Given the description of an element on the screen output the (x, y) to click on. 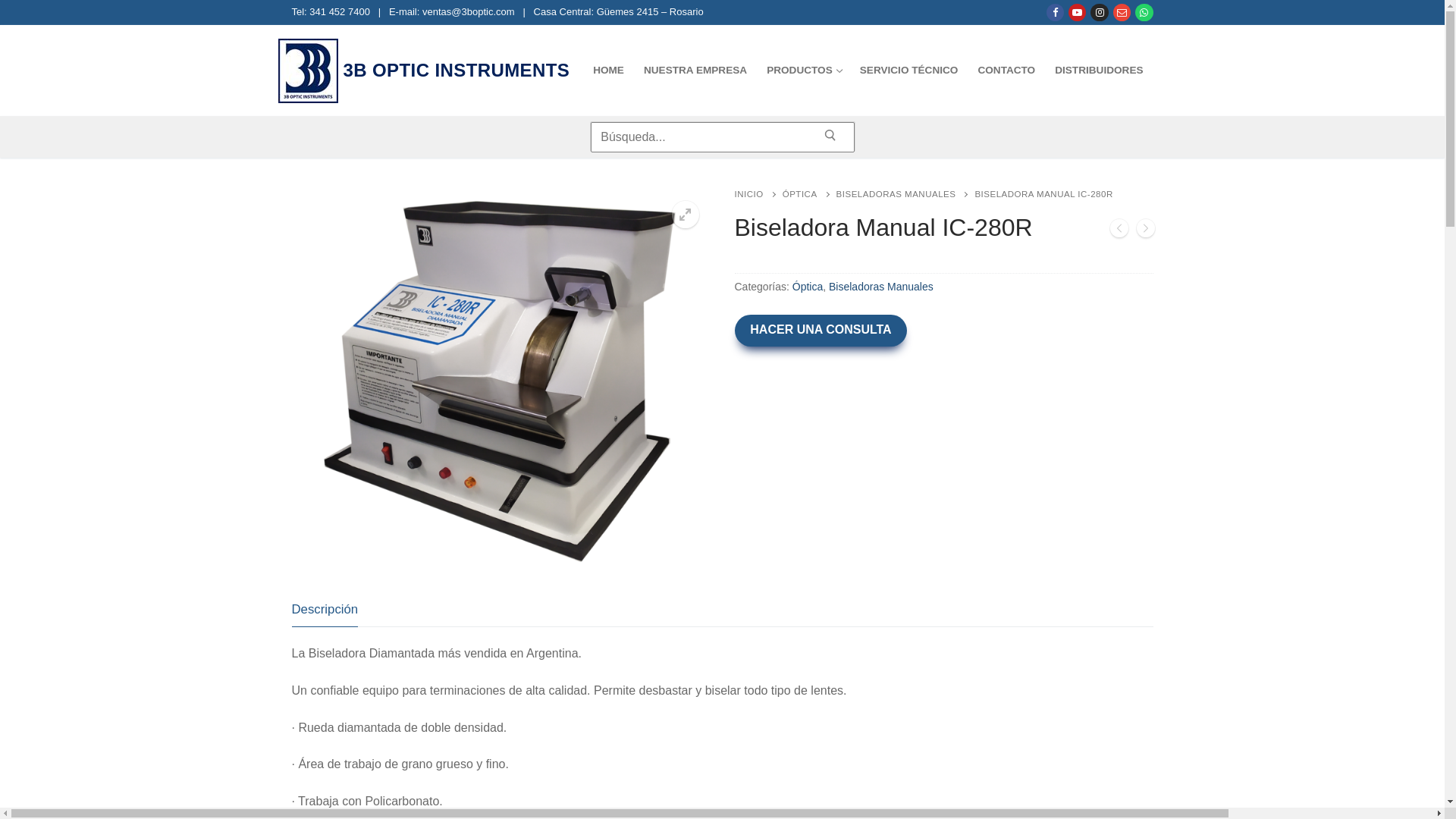
Biseladoras Manuales Element type: text (880, 286)
WhatsApp Element type: hover (1143, 12)
Instagram Element type: hover (1099, 12)
HOME Element type: text (608, 70)
BISELADORAS MANUALES Element type: text (905, 193)
NUESTRA EMPRESA Element type: text (694, 70)
Enviar e-mail Element type: hover (1121, 12)
Lupa Volk Panretinal Element type: hover (1144, 231)
IC-280R_transparente Element type: hover (500, 378)
CONTACTO Element type: text (1005, 70)
3B OPTIC INSTRUMENTS Element type: text (455, 70)
Facebook Element type: hover (1055, 12)
HACER UNA CONSULTA Element type: text (820, 330)
INICIO Element type: text (757, 193)
Lupa Volk Digital ClearField Element type: hover (1119, 231)
PRODUCTOS
  Element type: text (803, 70)
Youtube Element type: hover (1077, 12)
DISTRIBUIDORES Element type: text (1098, 70)
Buscar por: Element type: hover (722, 137)
